Given the description of an element on the screen output the (x, y) to click on. 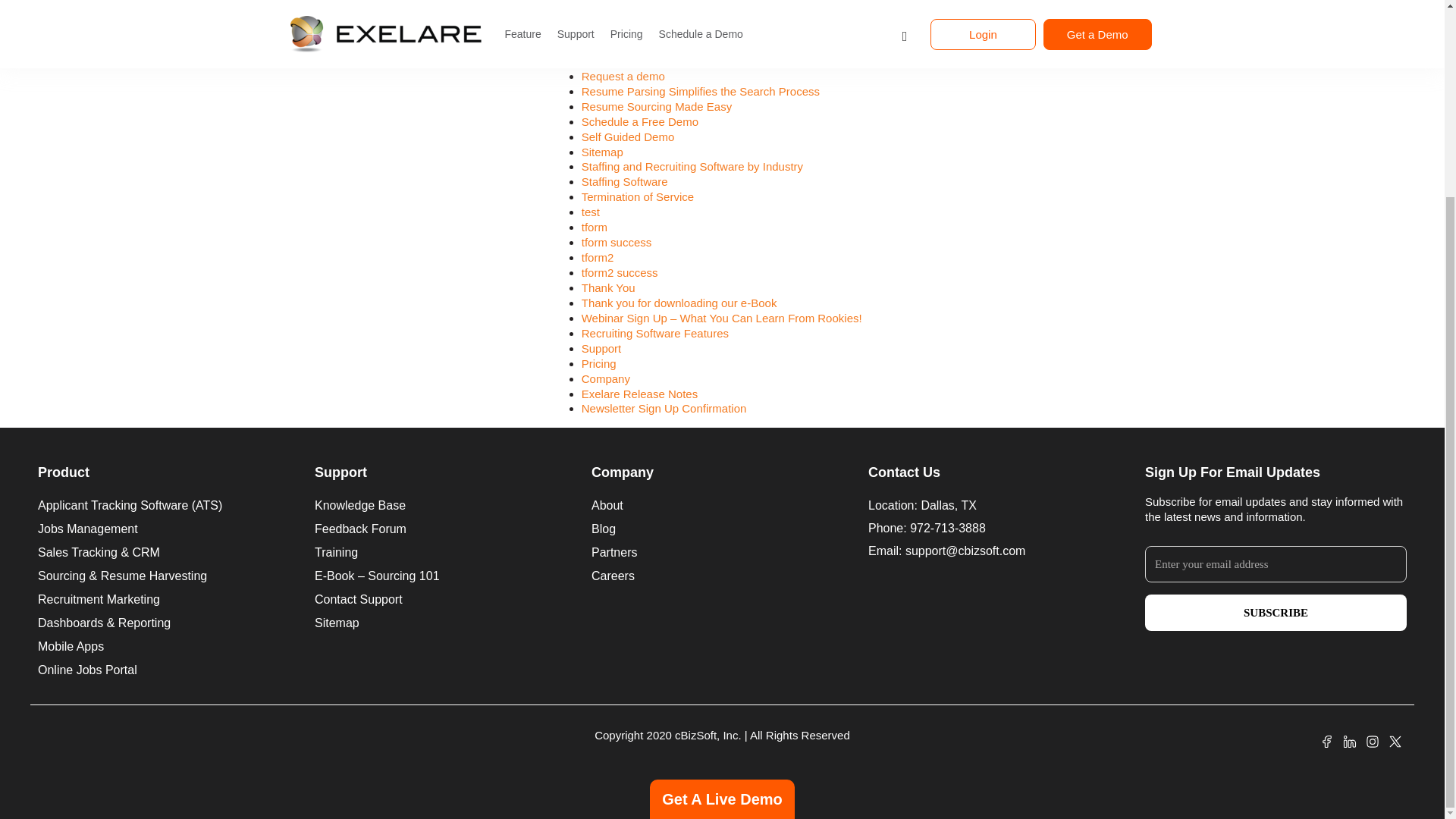
Recruiting Software for Sales (654, 45)
Recruiting Software for Operations Managers (694, 30)
Request a demo (622, 75)
Subscribe (1275, 612)
Recruiting Software for the High-Tech Sector (693, 60)
Pricing (597, 3)
Recruiting Software for Advertising and Marketing (705, 15)
Resume Parsing Simplifies the Search Process (699, 91)
